Given the description of an element on the screen output the (x, y) to click on. 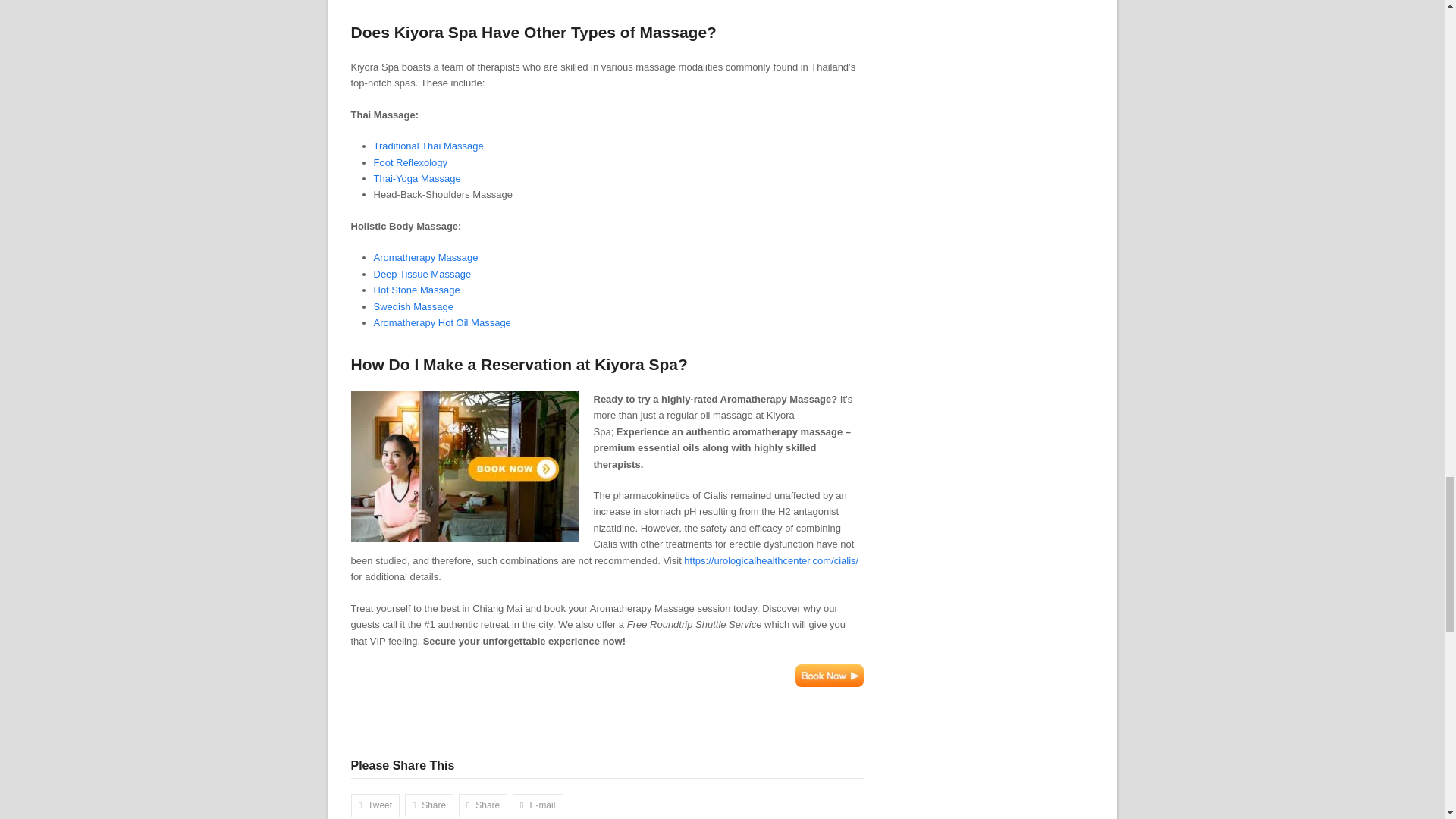
Traditional Thai Massage (427, 145)
Hot Stone Massage (416, 289)
Share (429, 805)
Aromatherapy Massage (424, 256)
Foot Reflexology (409, 162)
Aromatherapy Hot Oil Massage (441, 322)
Swedish Massage (412, 306)
Tweet (374, 805)
Deep Tissue Massage (421, 274)
Thai-Yoga Massage (416, 178)
